Given the description of an element on the screen output the (x, y) to click on. 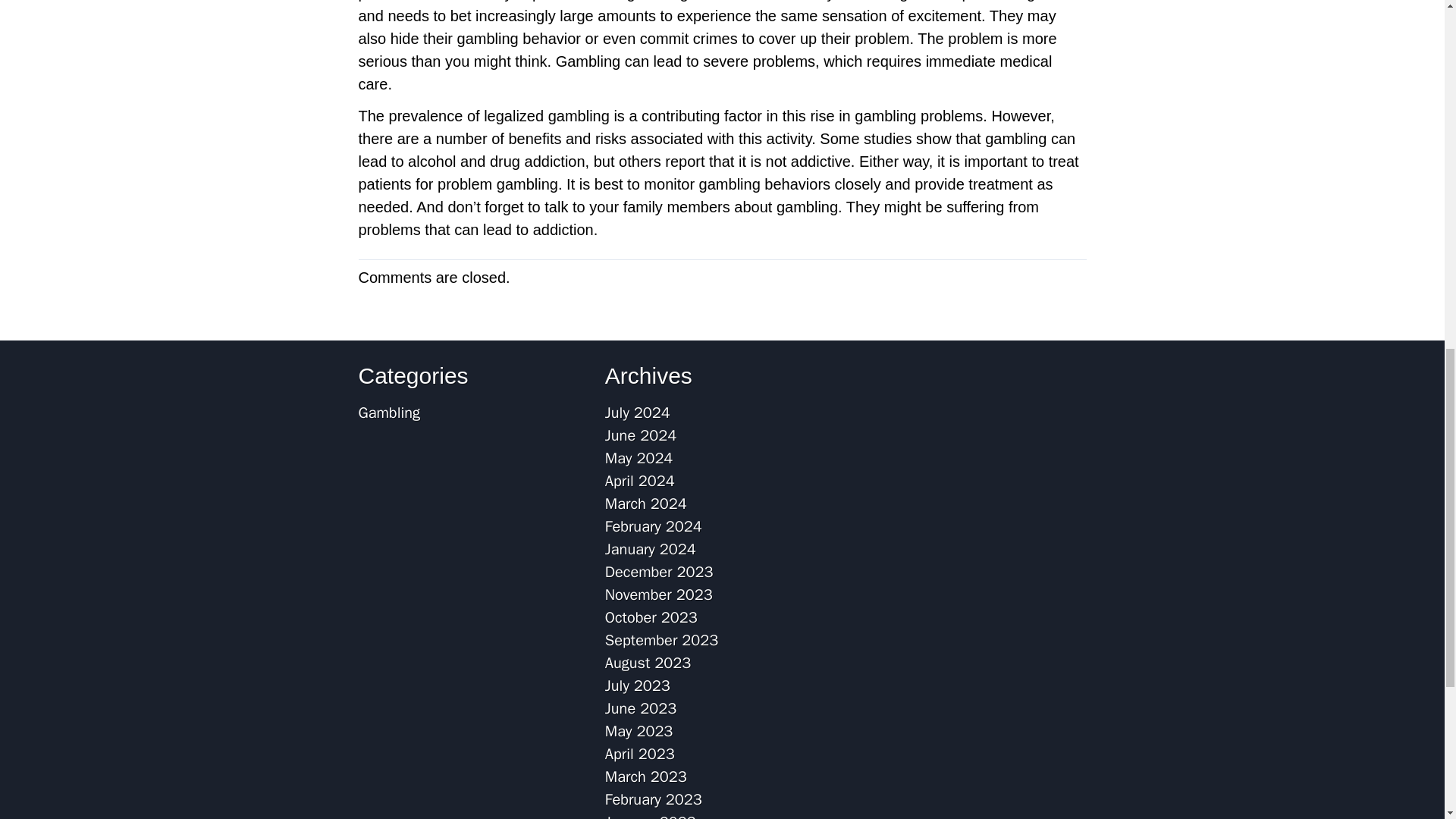
March 2023 (646, 776)
October 2023 (651, 617)
March 2024 (646, 503)
July 2024 (637, 412)
November 2023 (659, 594)
April 2023 (640, 753)
February 2023 (653, 799)
June 2024 (641, 435)
May 2024 (638, 457)
Gambling (388, 412)
July 2023 (637, 685)
April 2024 (640, 480)
May 2023 (638, 731)
January 2024 (650, 548)
August 2023 (648, 662)
